Given the description of an element on the screen output the (x, y) to click on. 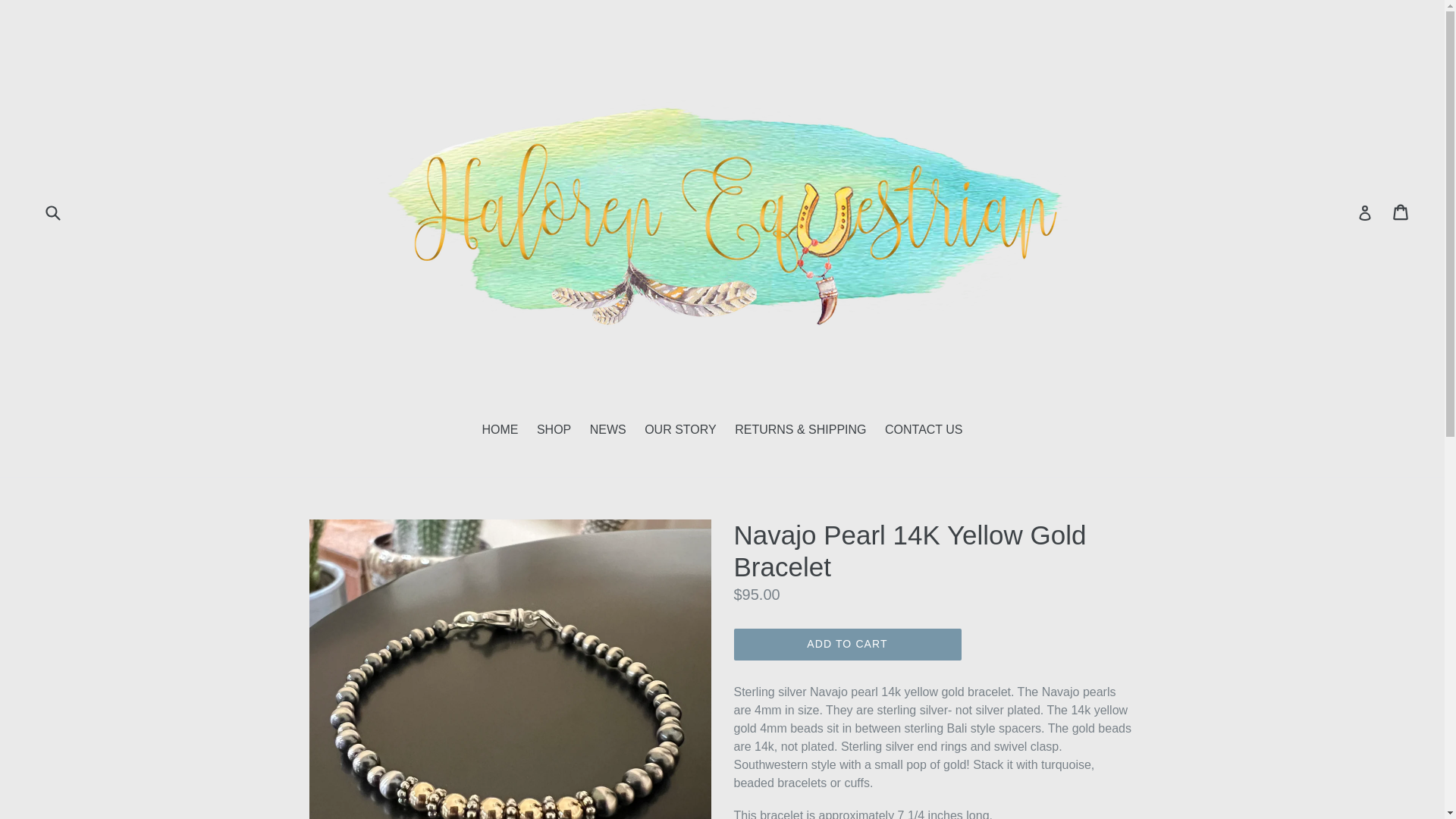
ADD TO CART (846, 644)
SHOP (553, 430)
HOME (499, 430)
CONTACT US (924, 430)
NEWS (607, 430)
OUR STORY (680, 430)
